Given the description of an element on the screen output the (x, y) to click on. 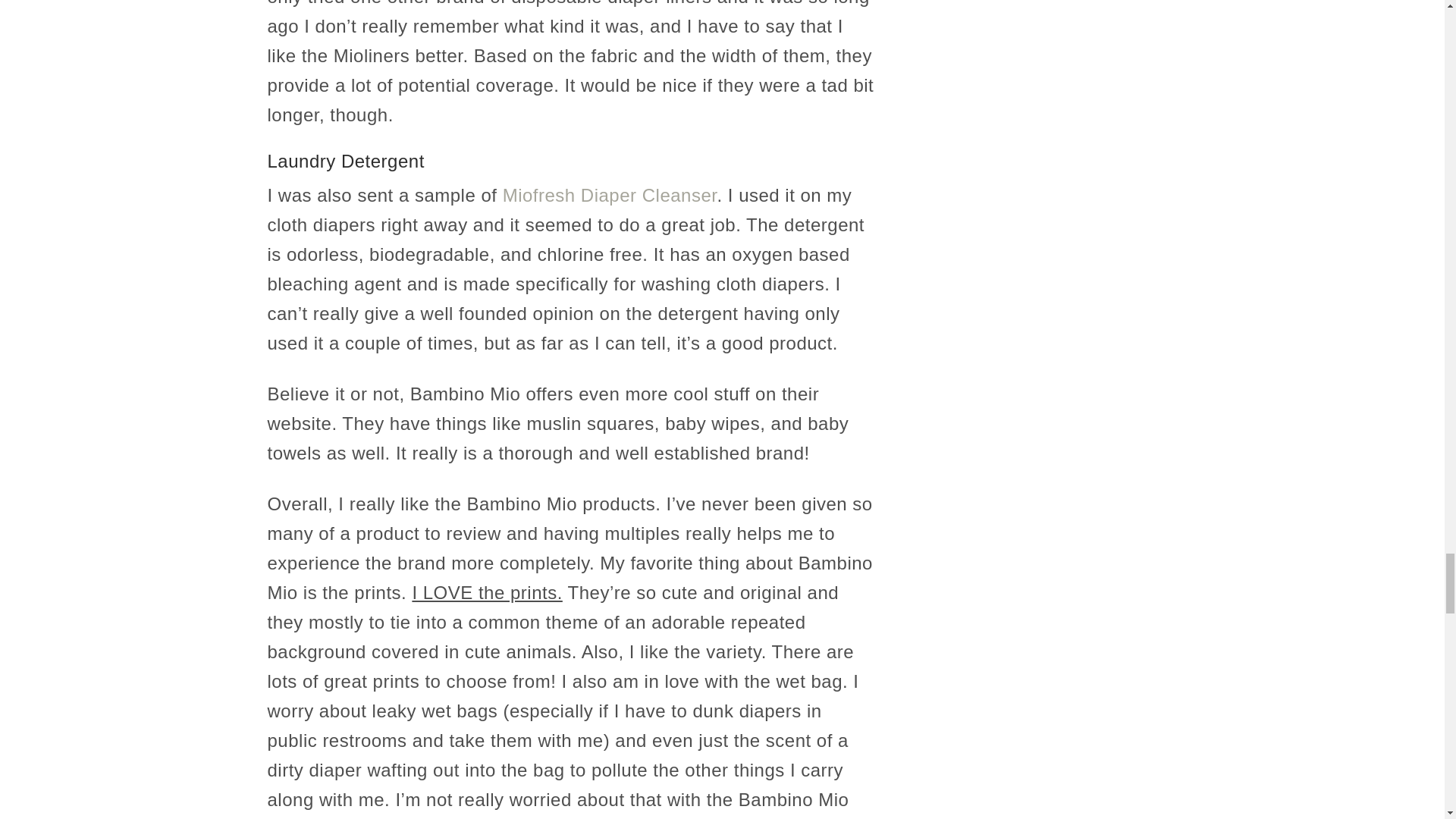
Miofresh Diaper Cleanser (609, 195)
